Given the description of an element on the screen output the (x, y) to click on. 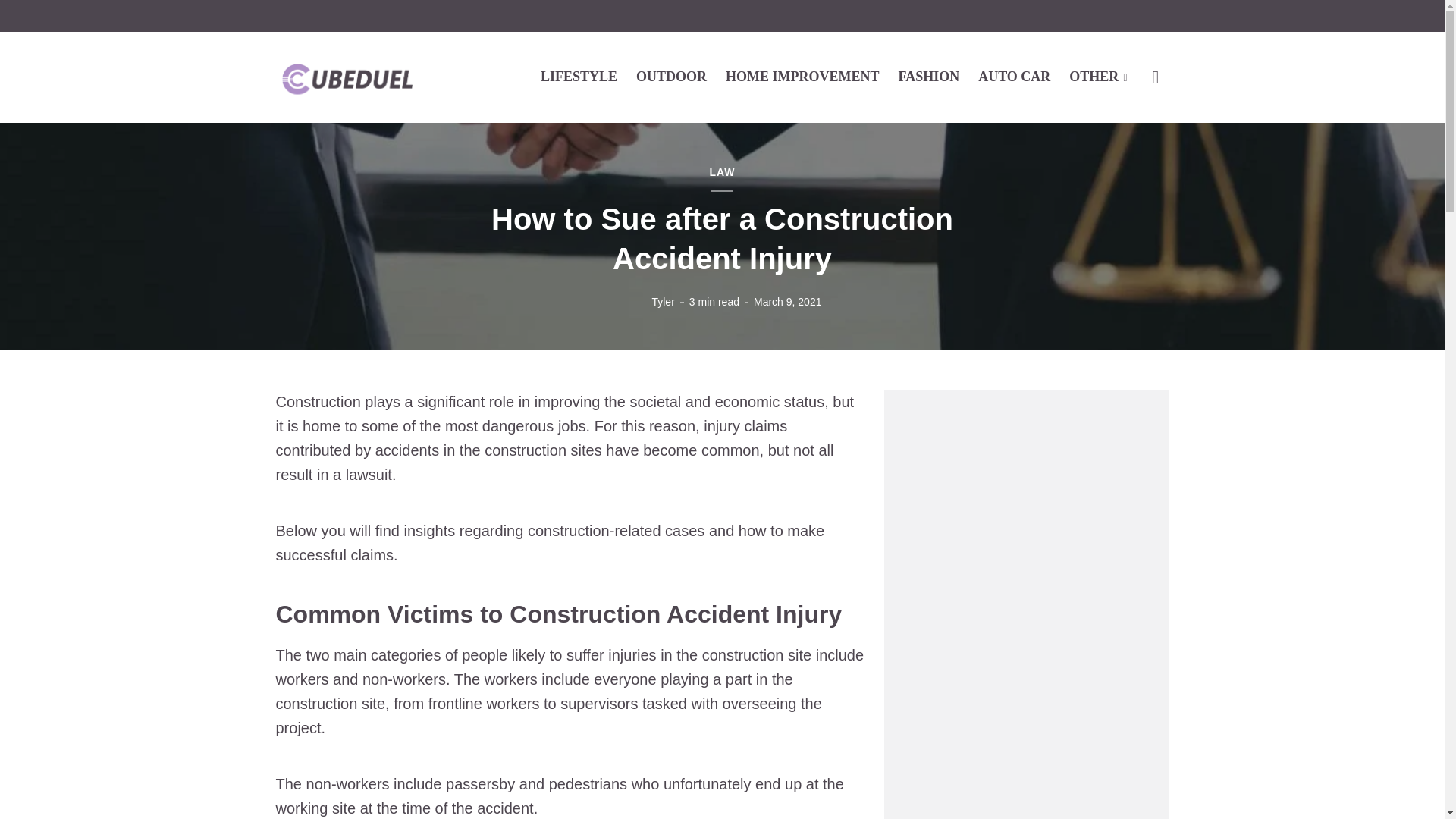
AUTO CAR (1013, 76)
OUTDOOR (671, 76)
OTHER (1097, 76)
FASHION (928, 76)
LIFESTYLE (578, 76)
HOME IMPROVEMENT (802, 76)
